Given the description of an element on the screen output the (x, y) to click on. 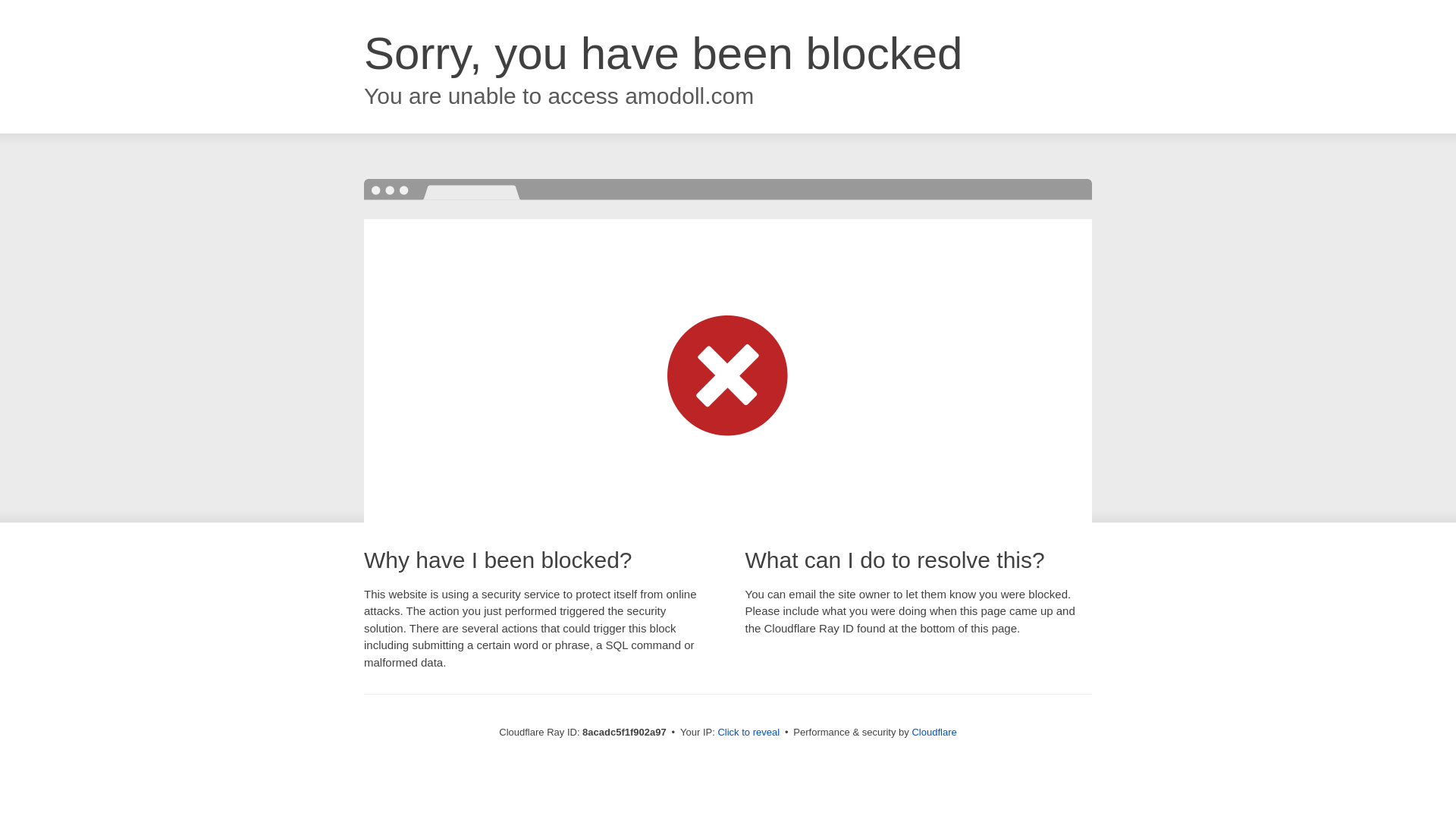
Click to reveal (747, 732)
Cloudflare (933, 731)
